Given the description of an element on the screen output the (x, y) to click on. 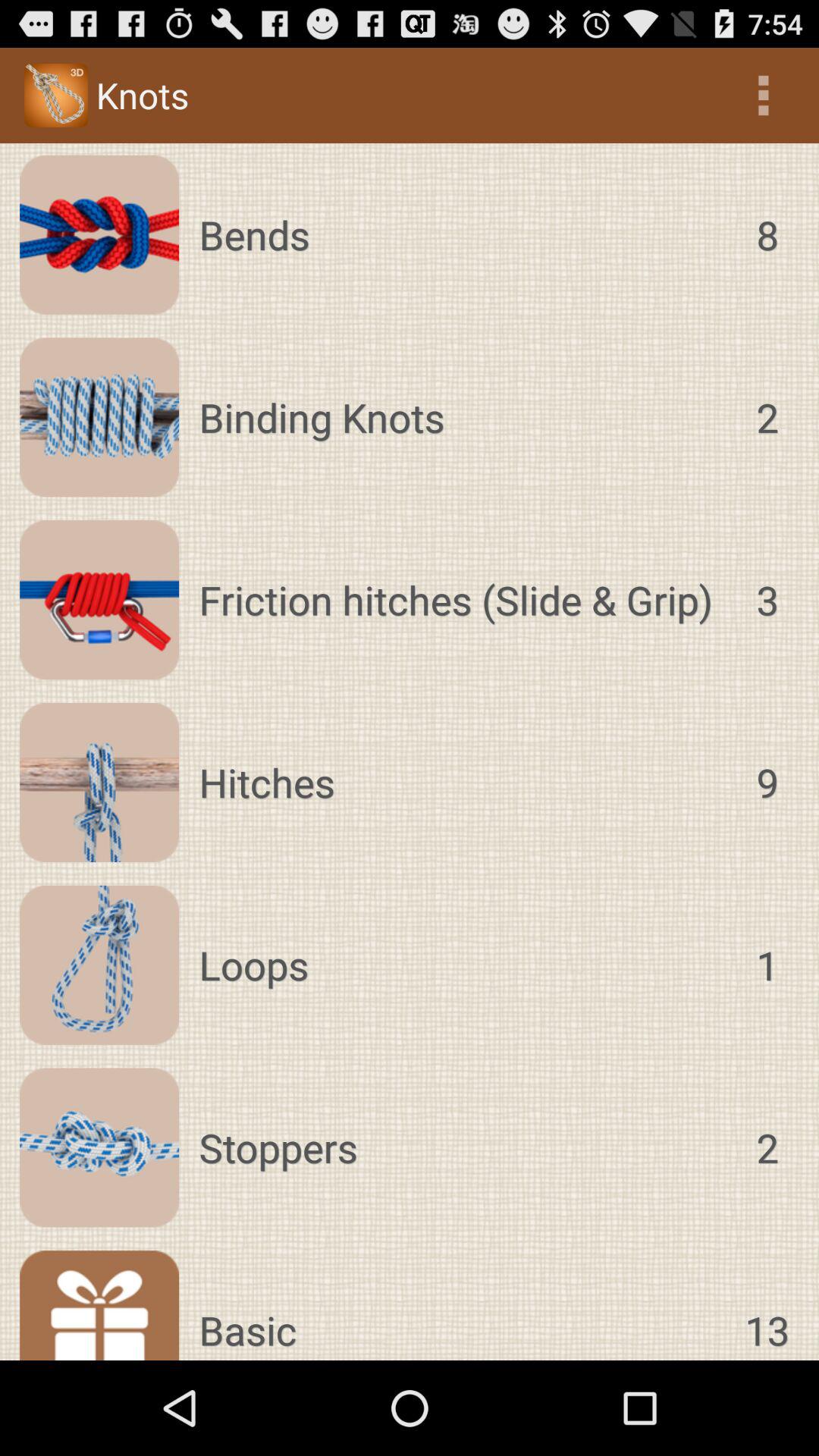
turn on app next to the 2 item (463, 417)
